Given the description of an element on the screen output the (x, y) to click on. 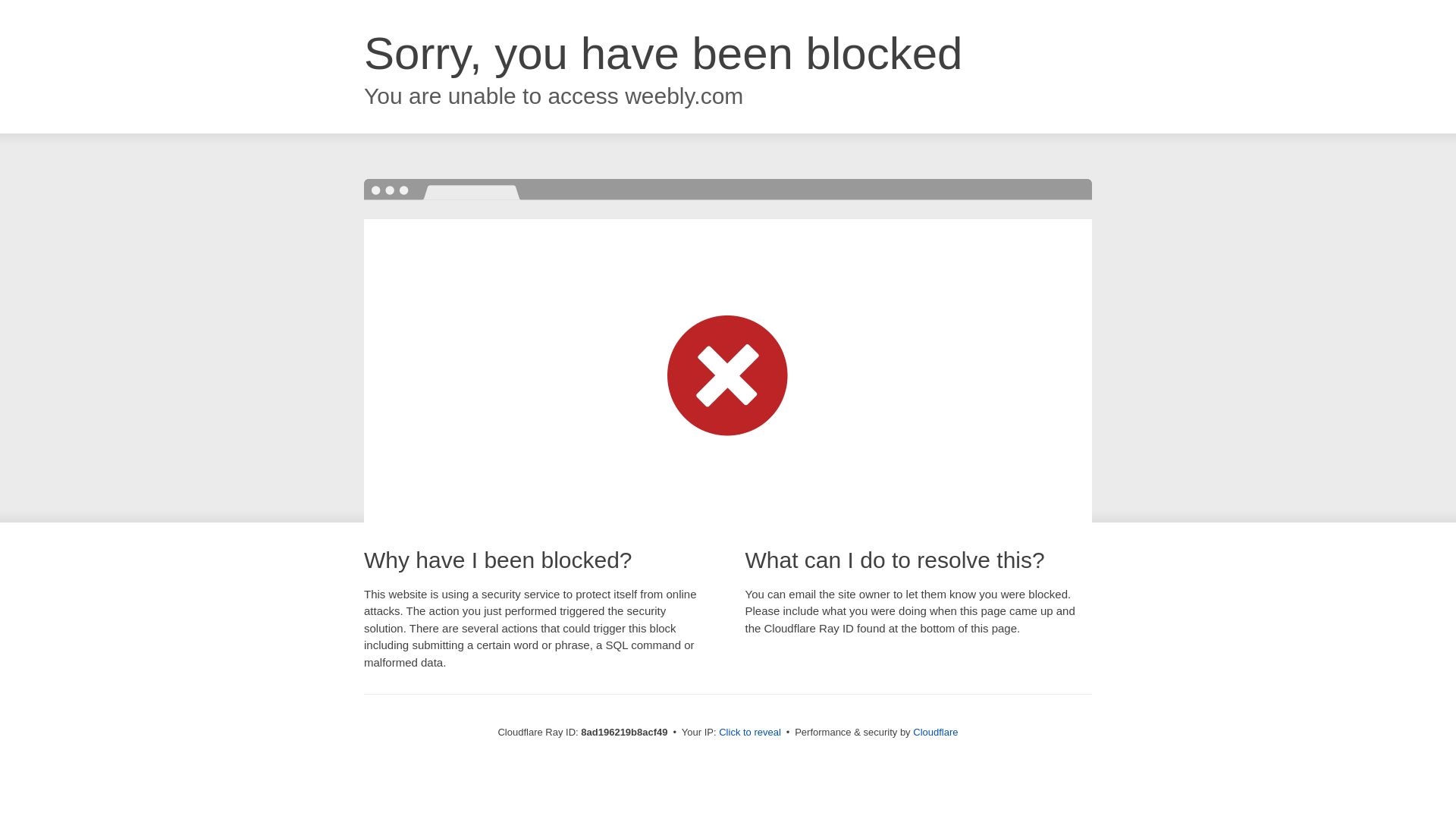
Click to reveal (749, 732)
Cloudflare (935, 731)
